Given the description of an element on the screen output the (x, y) to click on. 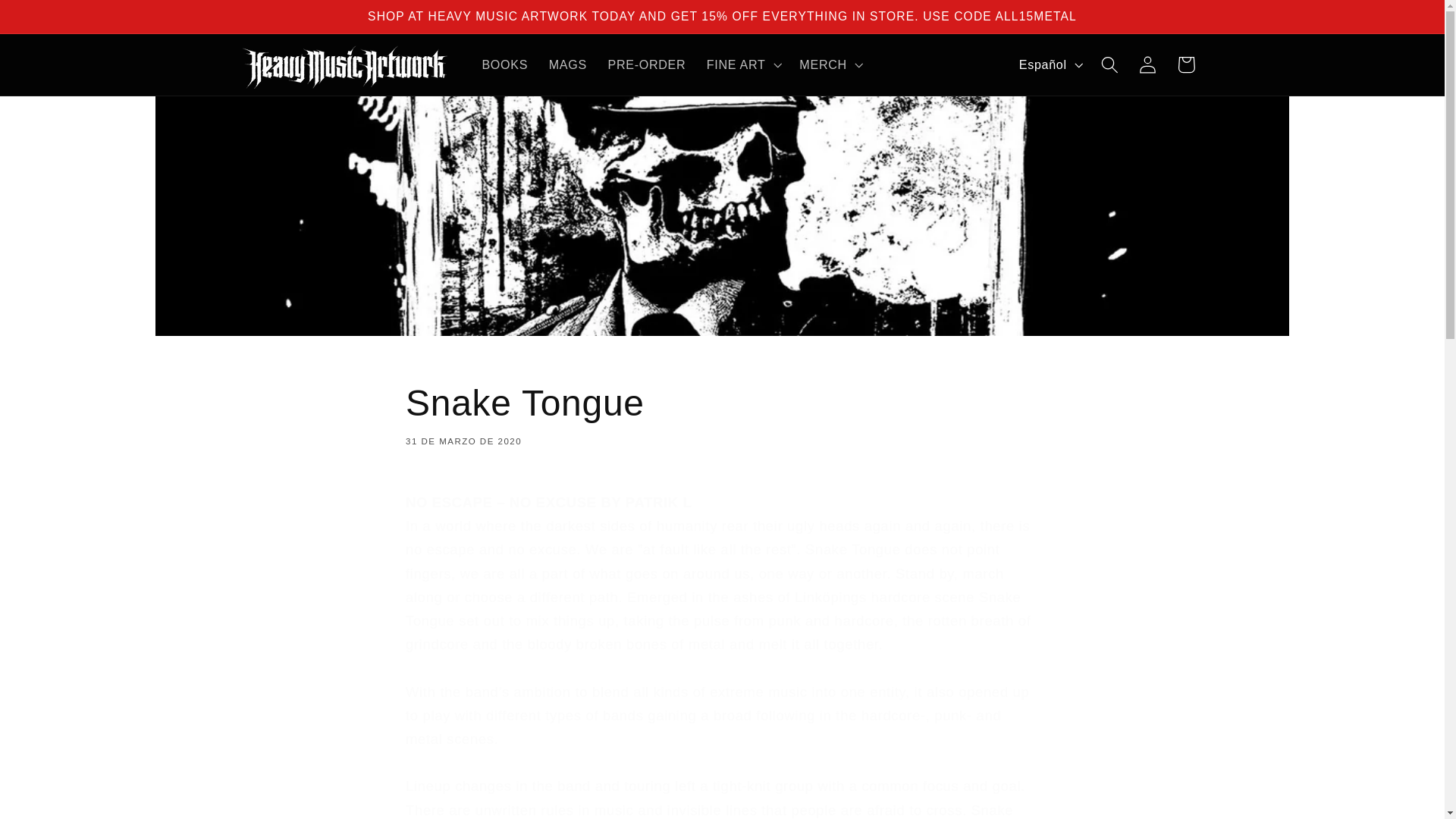
BOOKS (504, 63)
Carrito (1186, 64)
MAGS (567, 63)
PRE-ORDER (722, 413)
Ir directamente al contenido (645, 63)
